Given the description of an element on the screen output the (x, y) to click on. 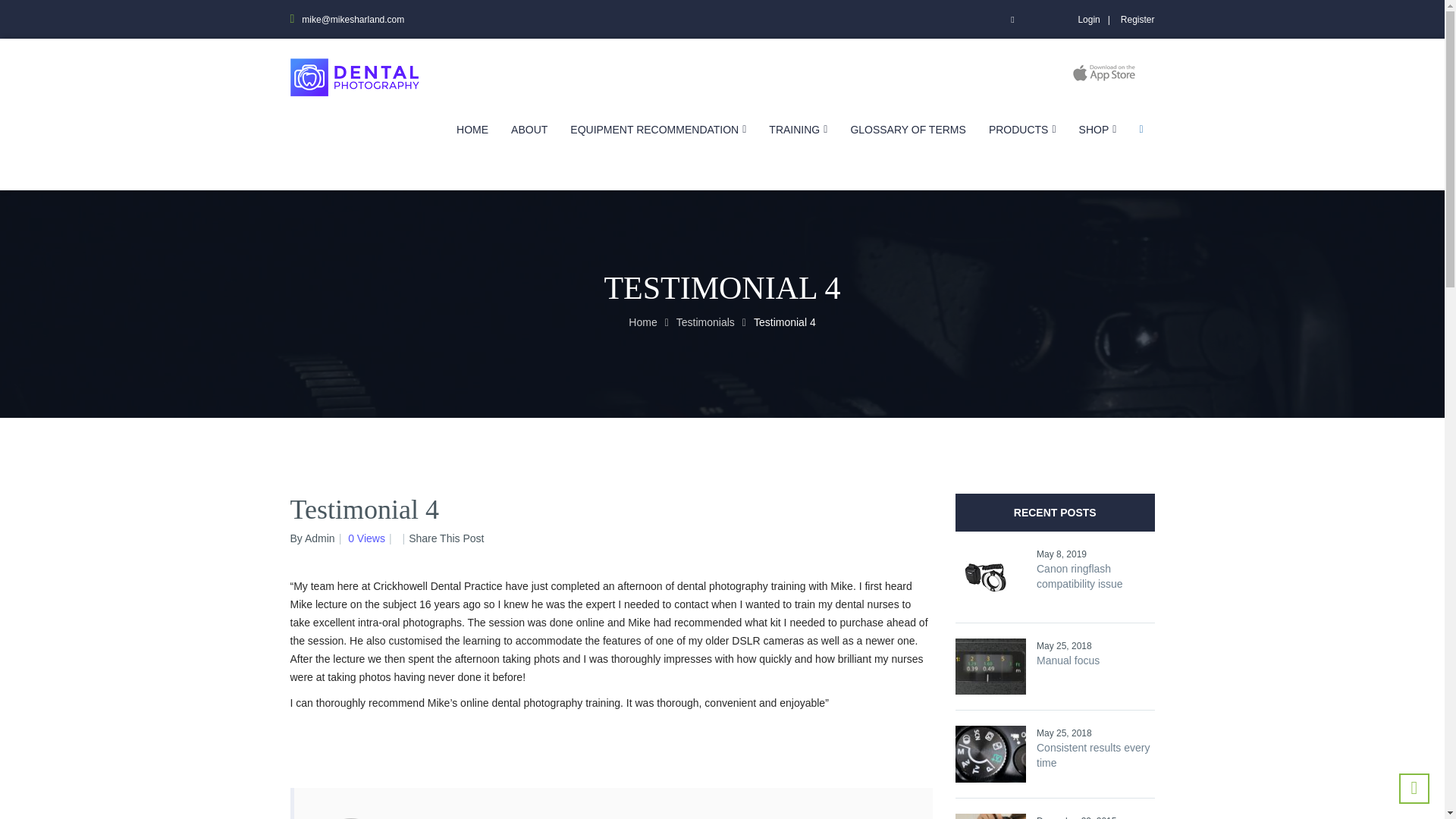
Register (1137, 19)
By Admin (311, 538)
EQUIPMENT RECOMMENDATION (657, 131)
Login (1097, 19)
Share This Post (446, 538)
Home (642, 321)
GLOSSARY OF TERMS (908, 131)
Testimonials (706, 321)
